Given the description of an element on the screen output the (x, y) to click on. 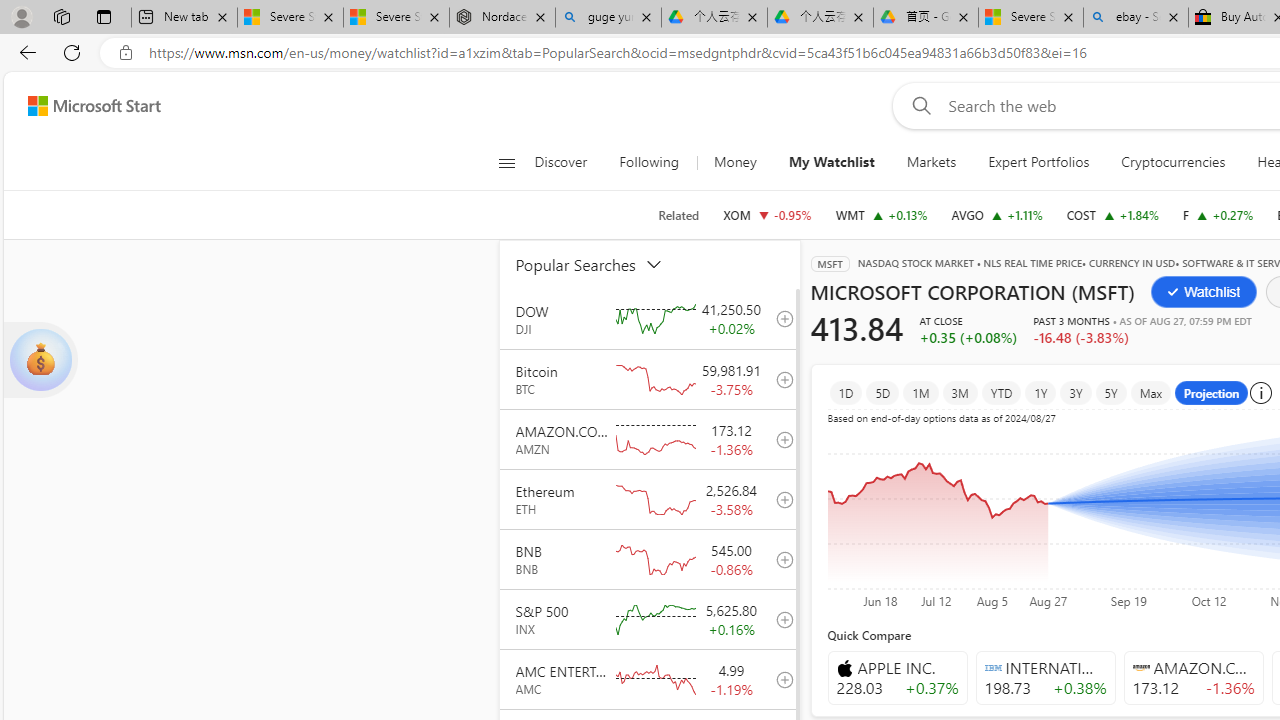
3M (959, 392)
